Given the description of an element on the screen output the (x, y) to click on. 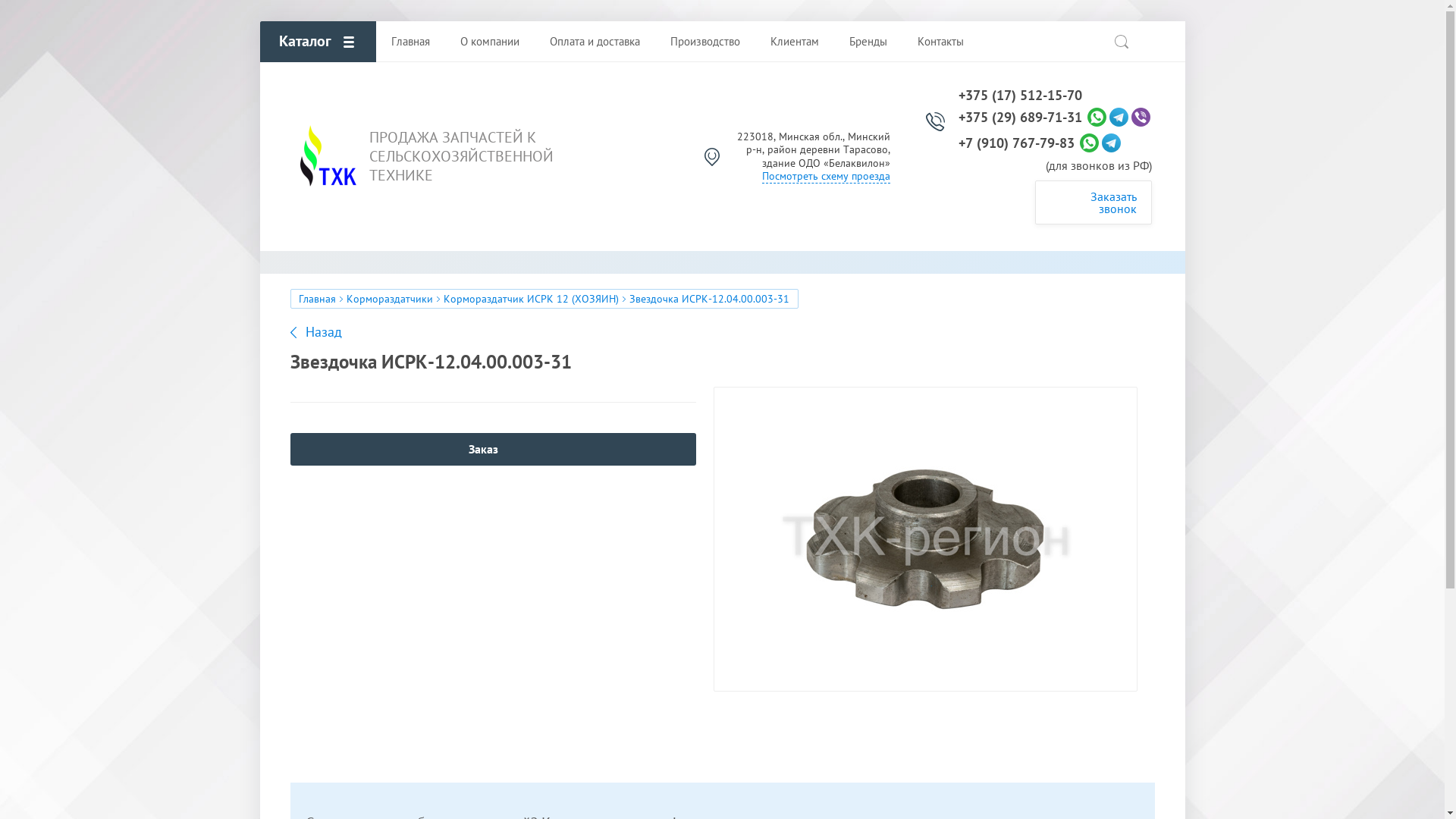
+7 (910) 767-79-83 Element type: text (1016, 143)
+375 (17) 512-15-70 Element type: text (1020, 95)
+375 (29) 689-71-31 Element type: text (1020, 117)
